Given the description of an element on the screen output the (x, y) to click on. 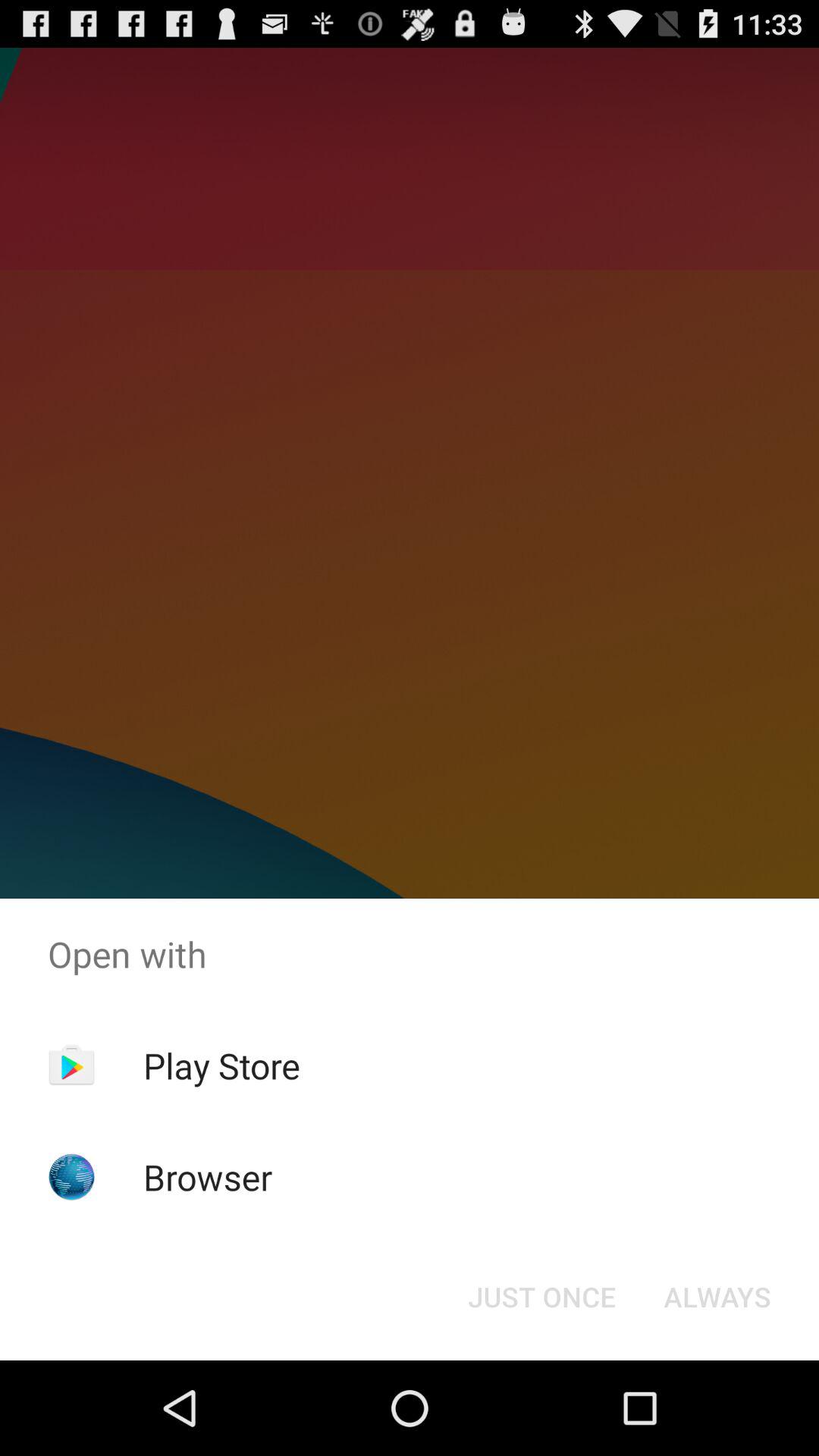
click the button to the right of the just once icon (717, 1296)
